Given the description of an element on the screen output the (x, y) to click on. 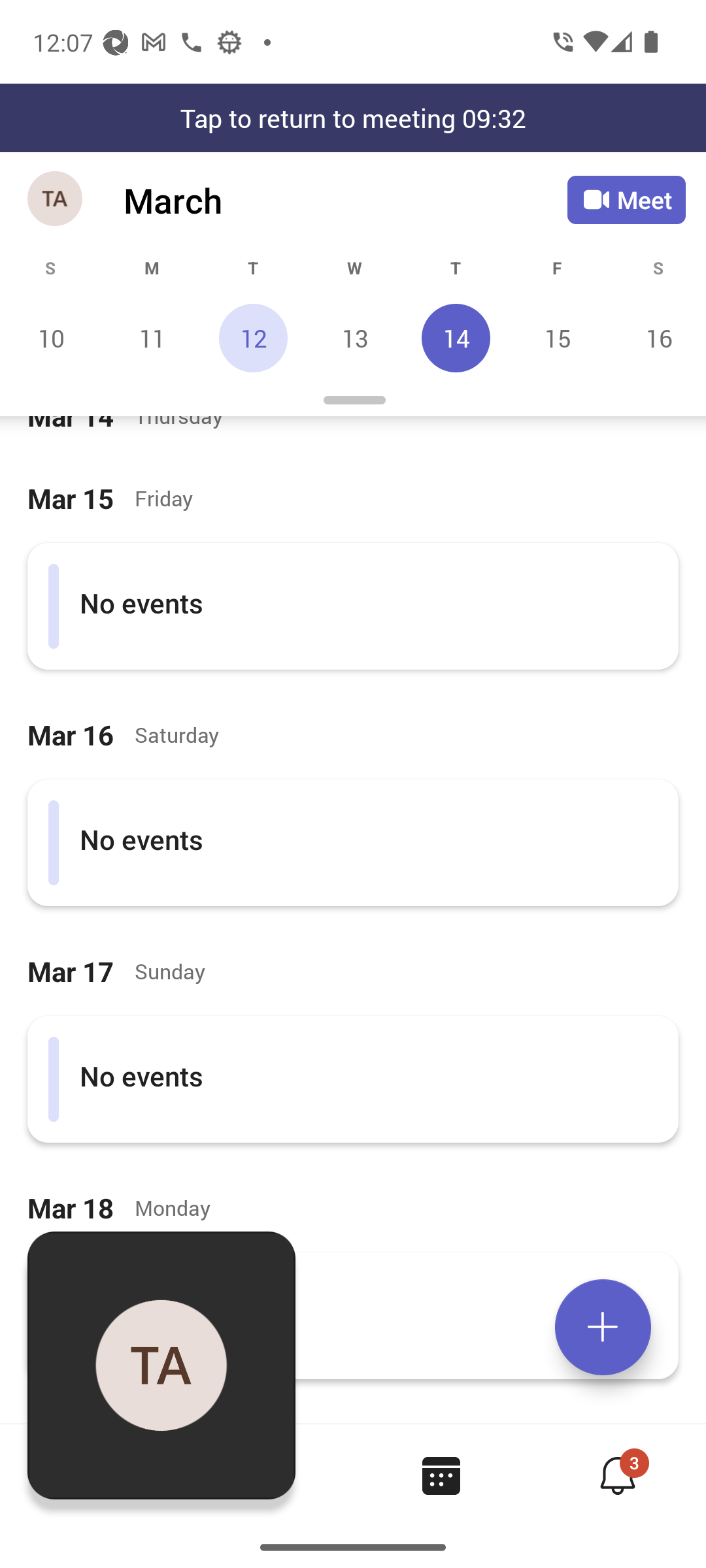
Tap to return to meeting 09:32 (353, 117)
Navigation (56, 199)
Meet Meet now or join with an ID (626, 199)
March March Calendar Agenda View (345, 199)
Sunday, March 10 10 (50, 337)
Monday, March 11 11 (151, 337)
Tuesday, March 12, Today 12 (253, 337)
Wednesday, March 13 13 (354, 337)
Thursday, March 14, Selected 14 (455, 337)
Friday, March 15 15 (556, 337)
Saturday, March 16 16 (656, 337)
Expand meetings menu (602, 1327)
Calendar tab, 3 of 4 (441, 1475)
Activity tab,4 of 4, not selected, 3 new 3 (617, 1475)
